Given the description of an element on the screen output the (x, y) to click on. 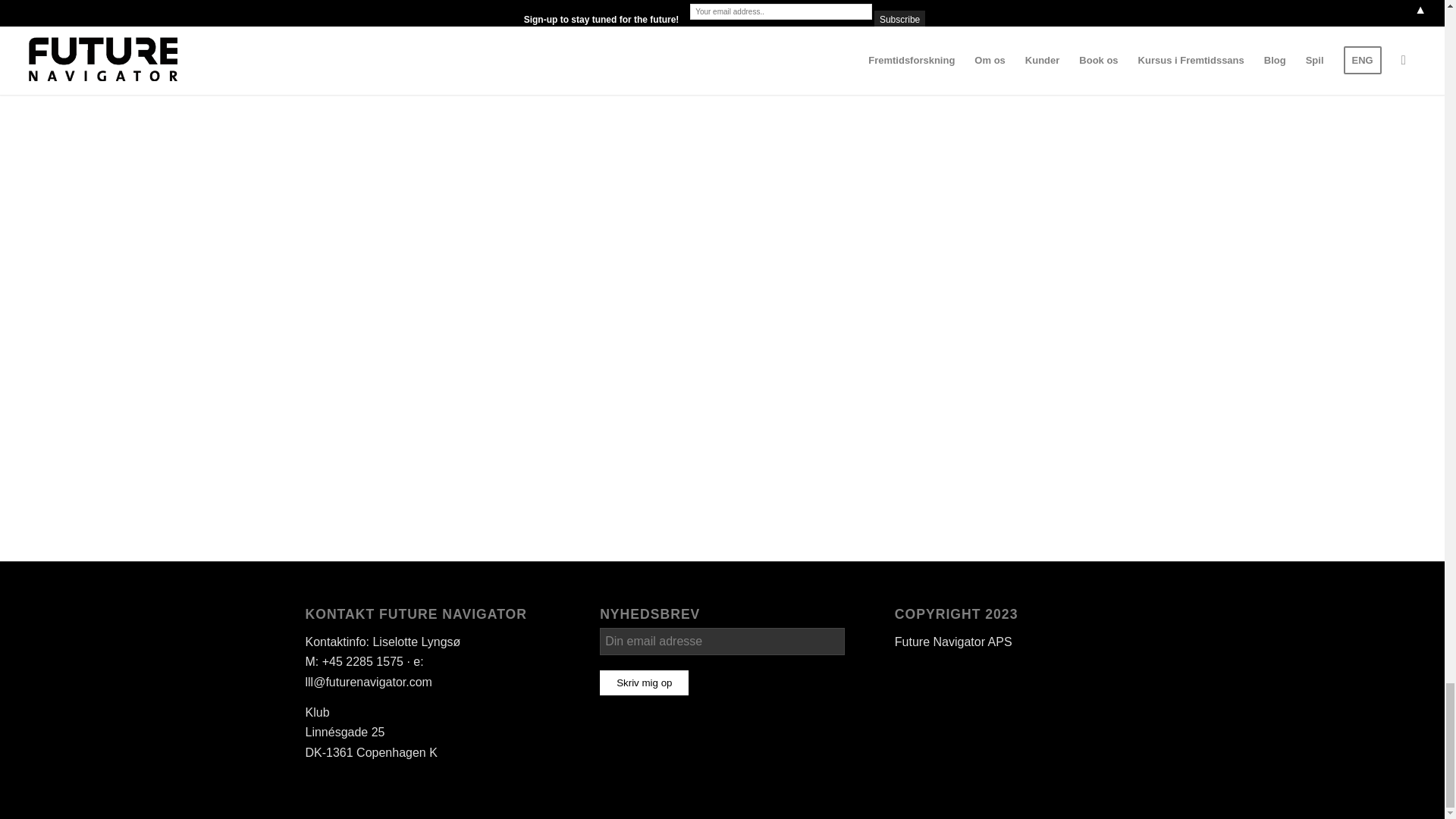
Skriv mig op (643, 682)
